Given the description of an element on the screen output the (x, y) to click on. 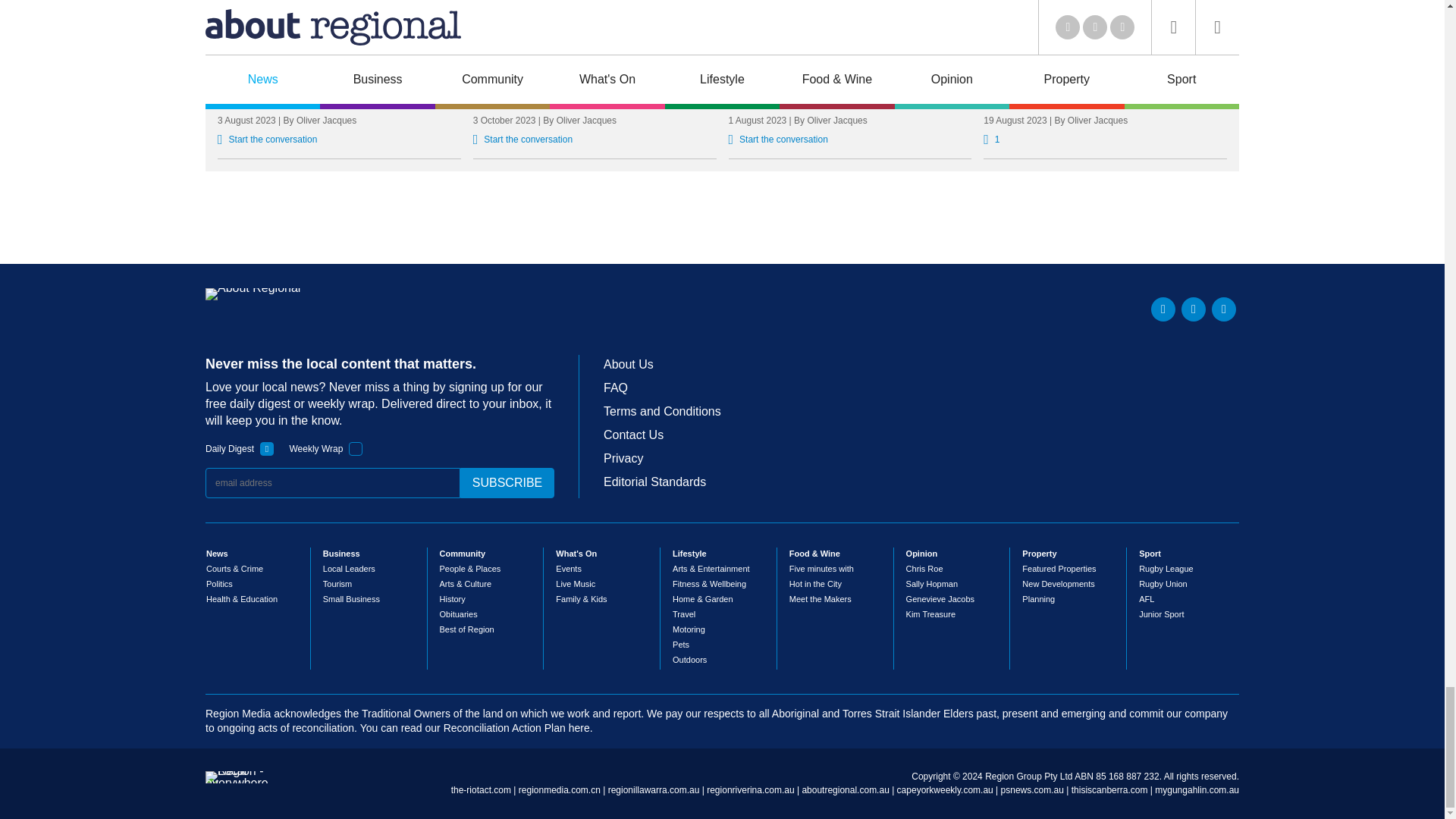
Twitter (1162, 309)
Instagram (1223, 309)
subscribe (507, 482)
1 (266, 448)
1 (355, 448)
Region - Local everywhere (236, 783)
Facebook (1192, 309)
